Given the description of an element on the screen output the (x, y) to click on. 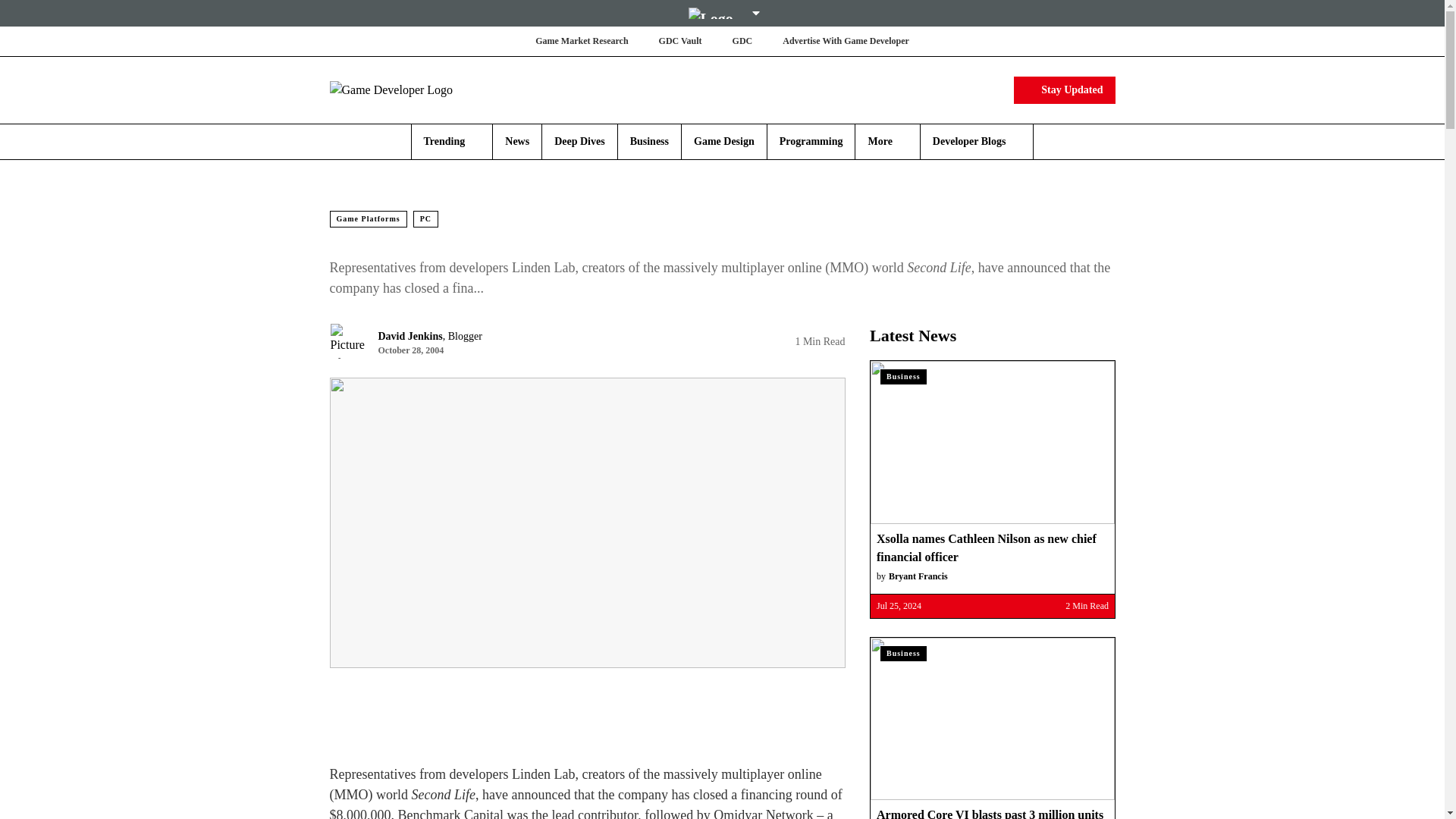
Stay Updated (1064, 89)
GDC (742, 41)
Game Design (724, 141)
GDC Vault (680, 41)
Deep Dives (579, 141)
Programming (810, 141)
Game Market Research (581, 41)
Picture of David Jenkins (347, 340)
News (517, 141)
Advertise With Game Developer (845, 41)
Business (649, 141)
Game Developer Logo (419, 90)
